Given the description of an element on the screen output the (x, y) to click on. 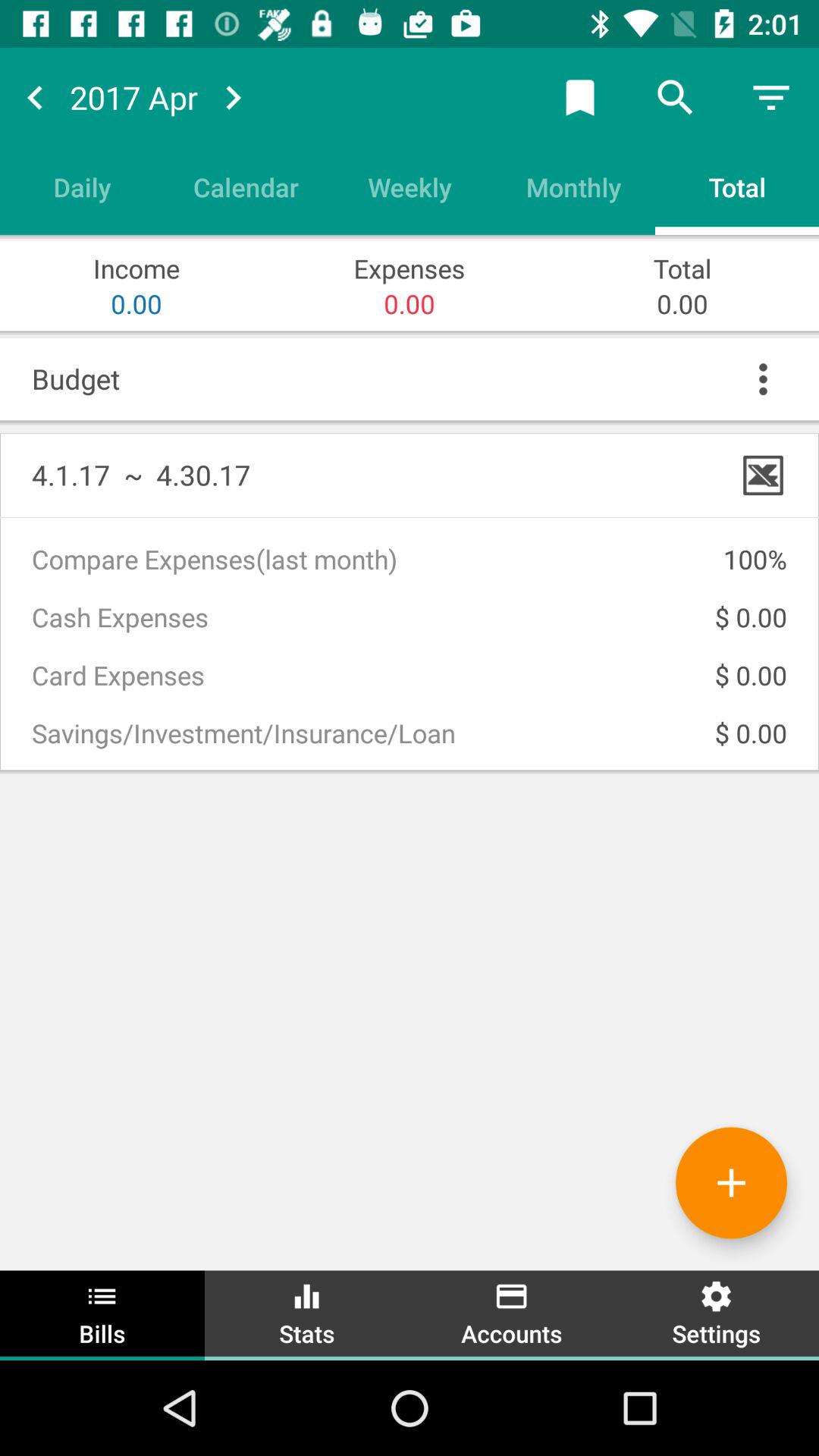
go to search (675, 97)
